Given the description of an element on the screen output the (x, y) to click on. 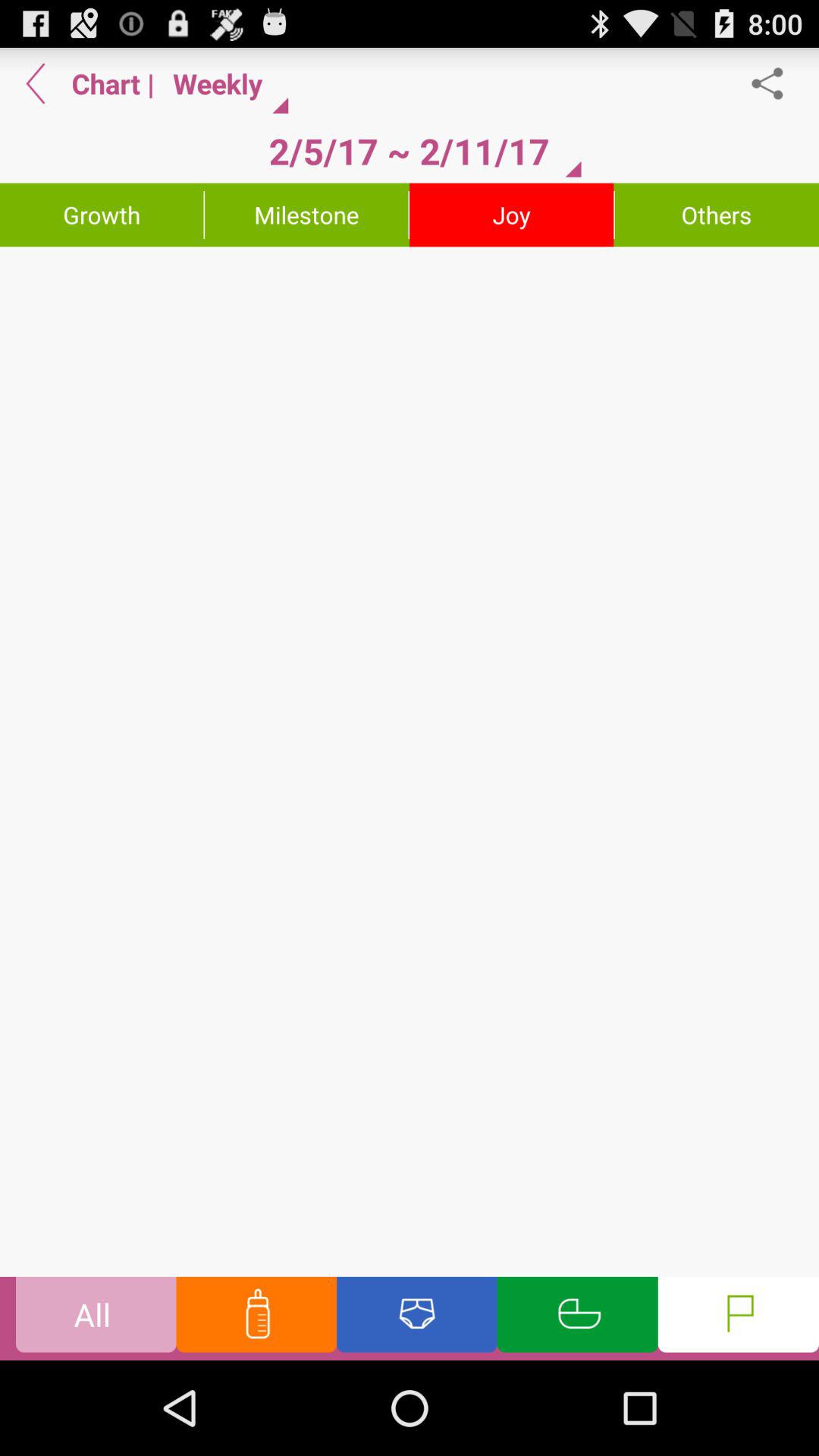
jump to the joy (511, 214)
